Given the description of an element on the screen output the (x, y) to click on. 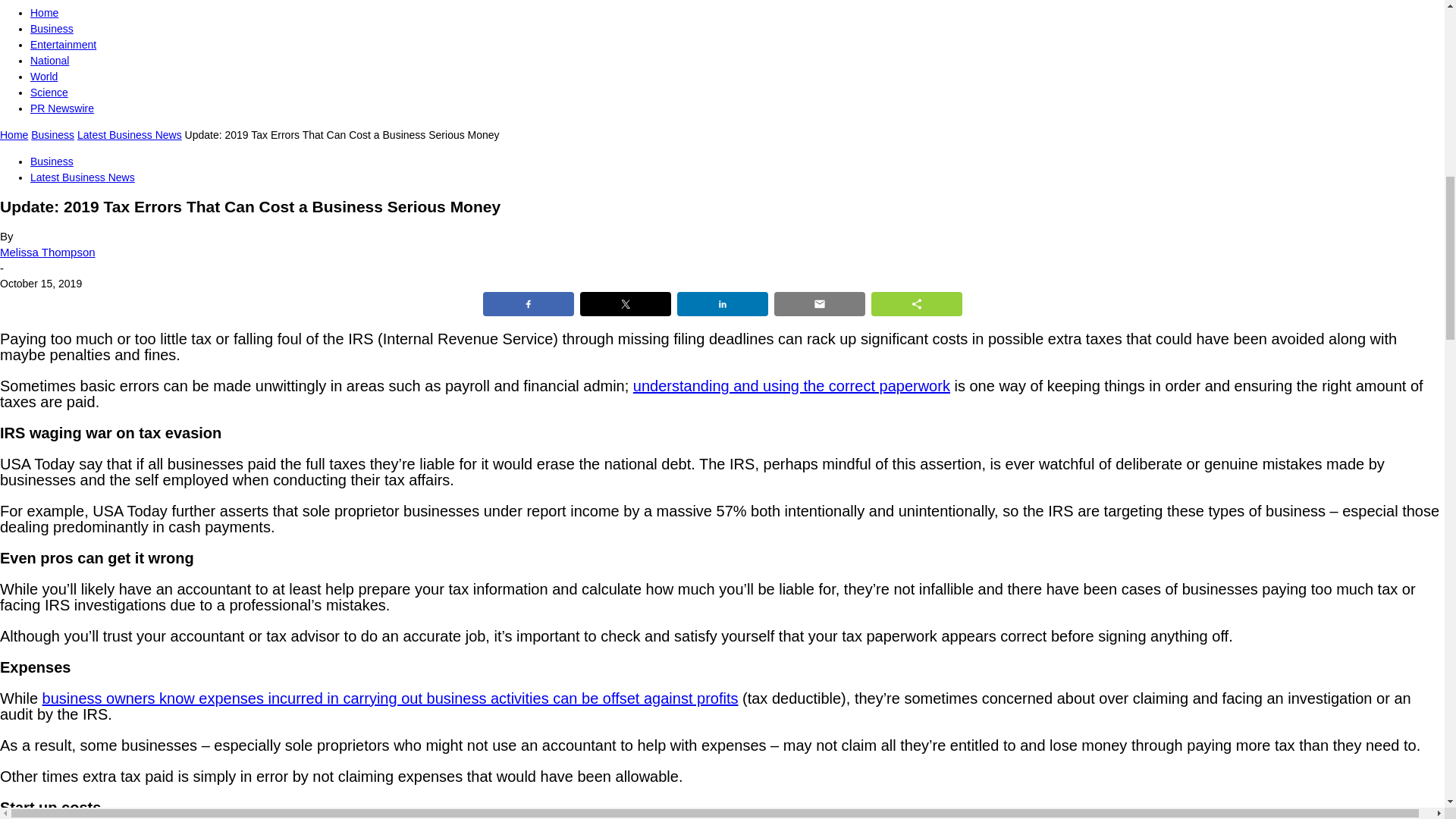
Business (52, 28)
View all posts in Business (52, 134)
Home (44, 12)
View all posts in Latest Business News (129, 134)
